Given the description of an element on the screen output the (x, y) to click on. 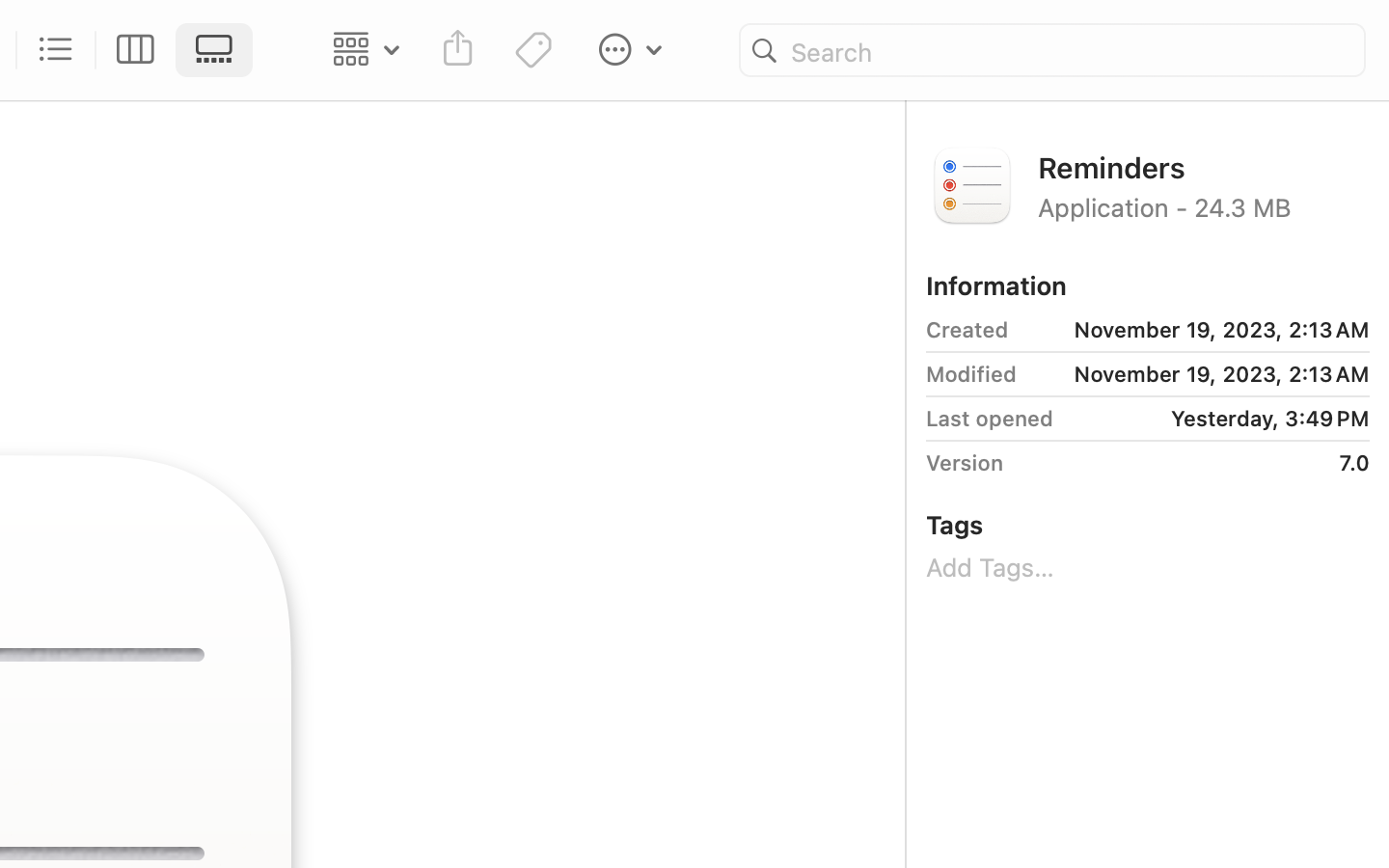
Created Element type: AXStaticText (967, 329)
Tags Element type: AXStaticText (954, 524)
0 Element type: AXRadioButton (56, 49)
Version Element type: AXStaticText (964, 462)
Modified Element type: AXStaticText (971, 373)
